Given the description of an element on the screen output the (x, y) to click on. 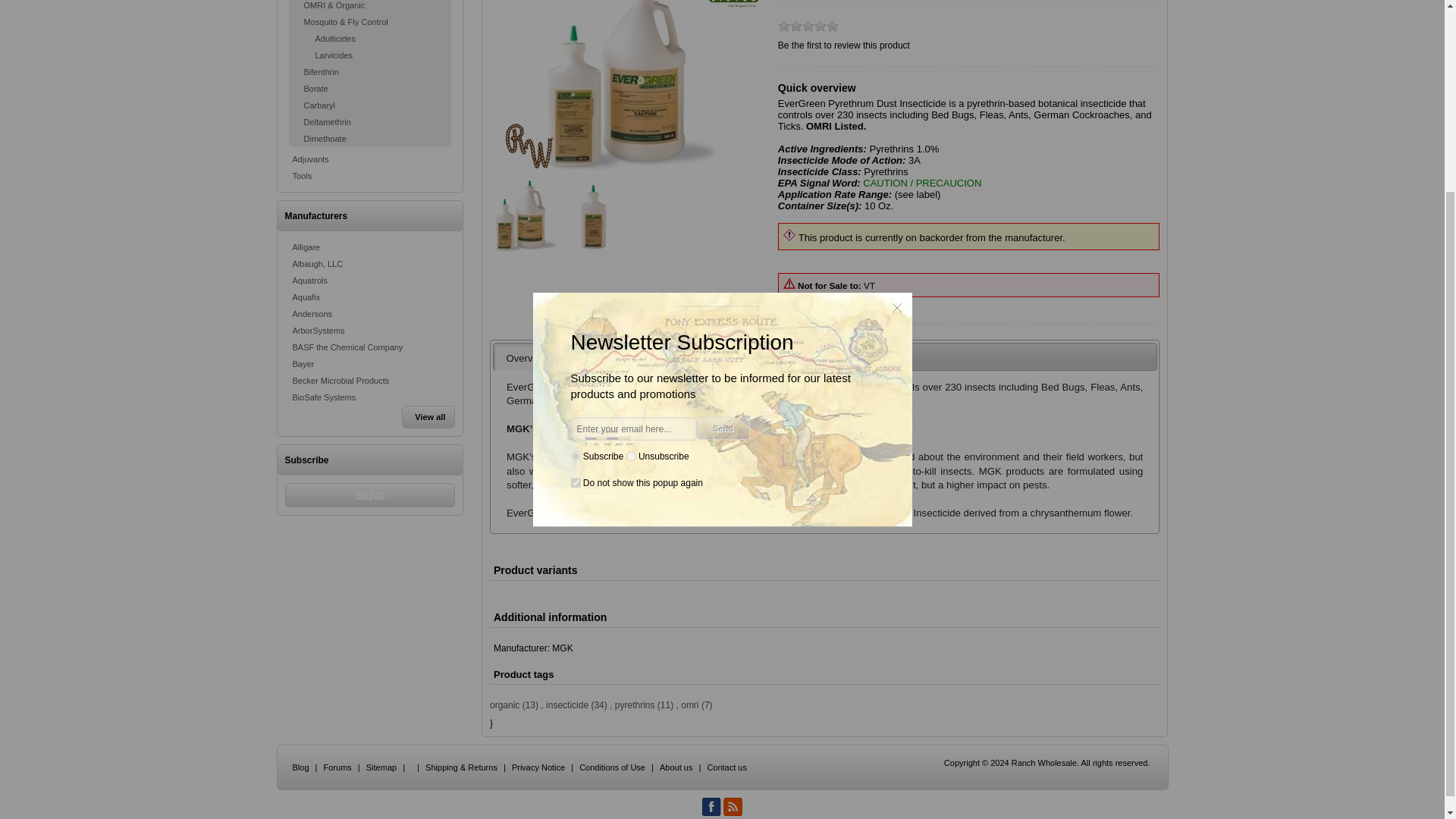
on (574, 237)
Send (370, 494)
